Given the description of an element on the screen output the (x, y) to click on. 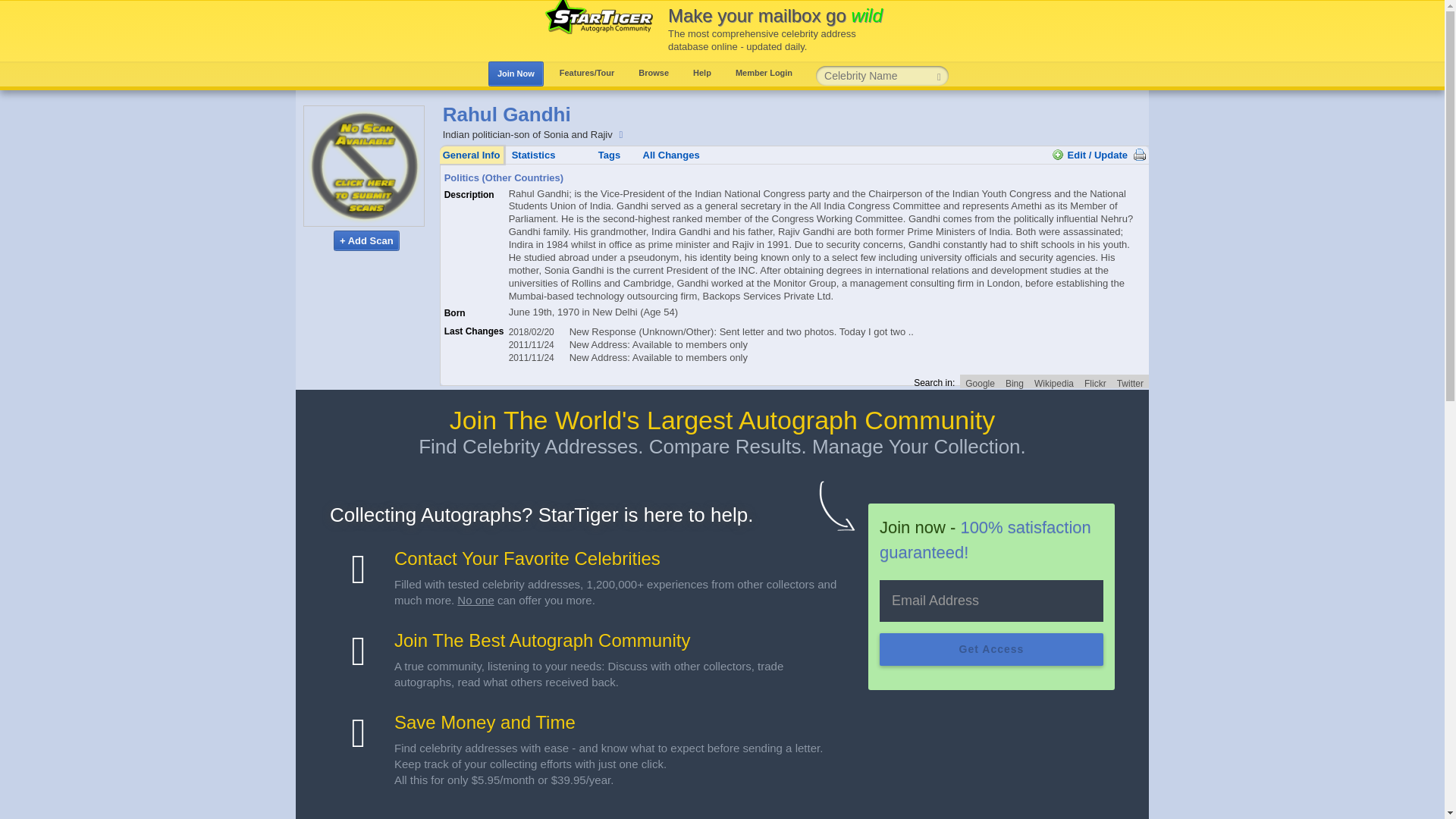
Get Access (991, 649)
Join Now (515, 73)
Google (979, 381)
Twitter (1130, 381)
Wikipedia (1053, 381)
Browse (653, 73)
Member Login (763, 73)
Help (701, 73)
Flickr (1095, 381)
Bing (1014, 381)
